Given the description of an element on the screen output the (x, y) to click on. 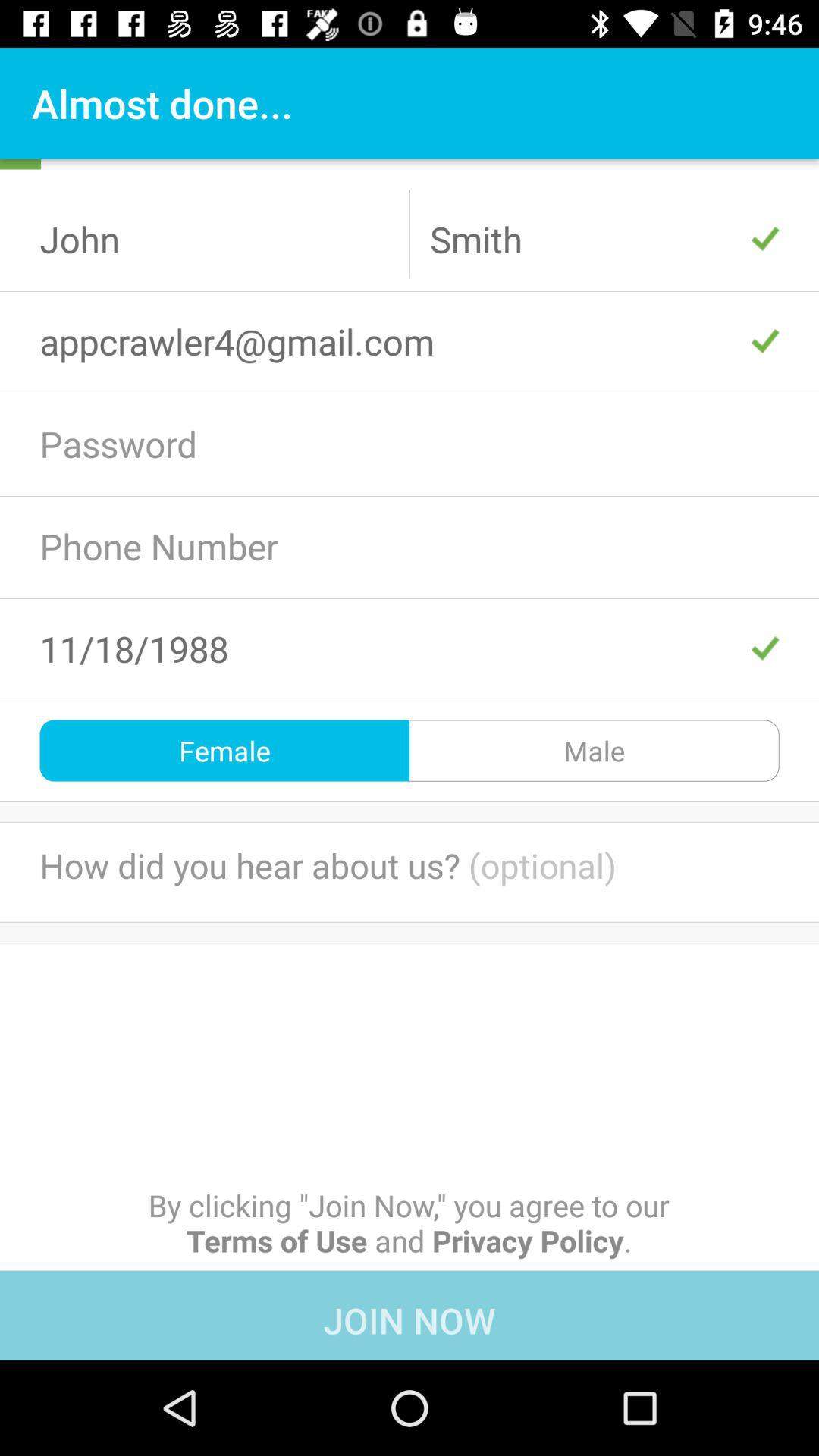
open item at the top right corner (604, 239)
